Given the description of an element on the screen output the (x, y) to click on. 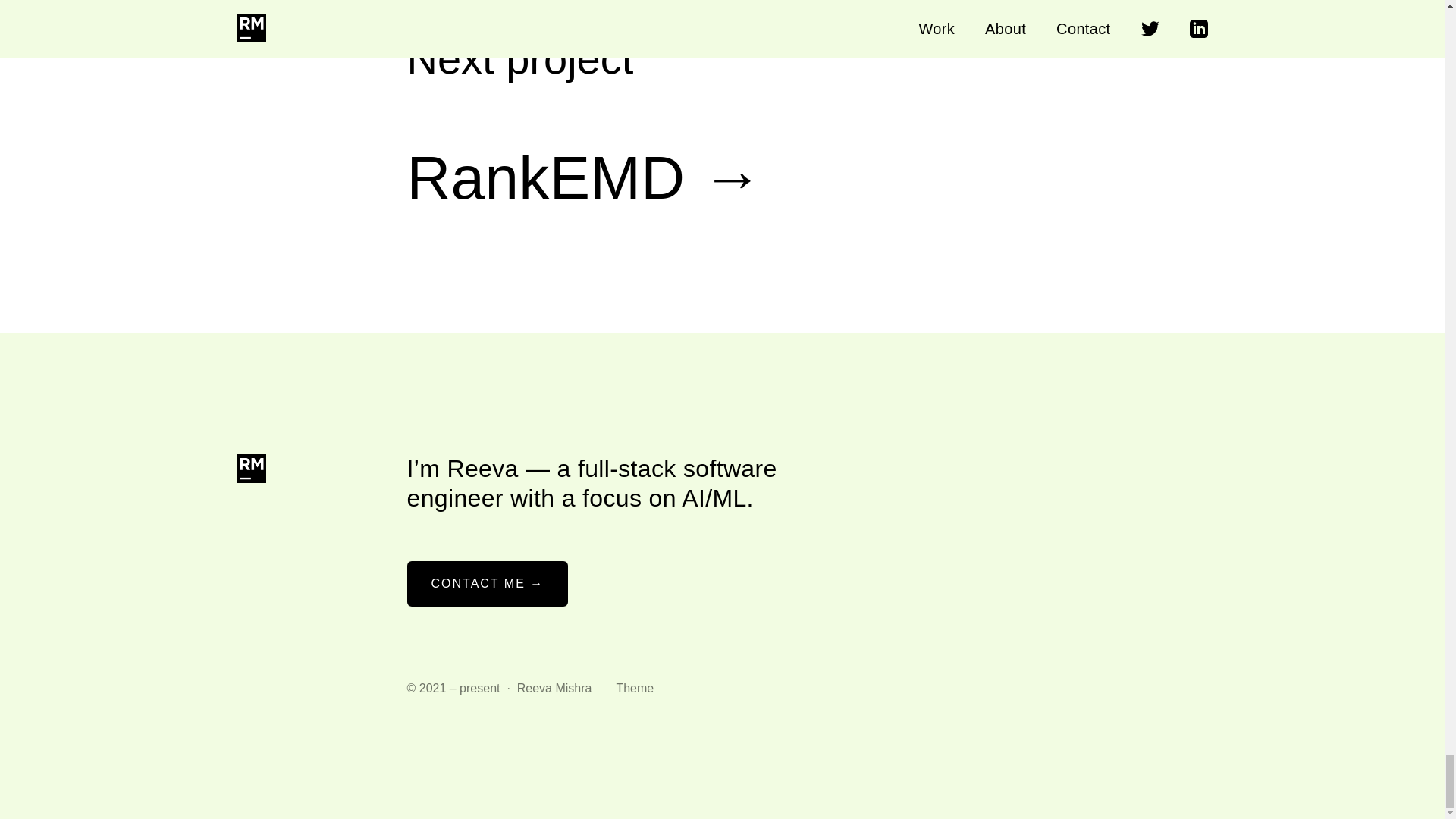
RM-logo-default (249, 469)
RM-logo-default (249, 468)
Theme (634, 688)
